Given the description of an element on the screen output the (x, y) to click on. 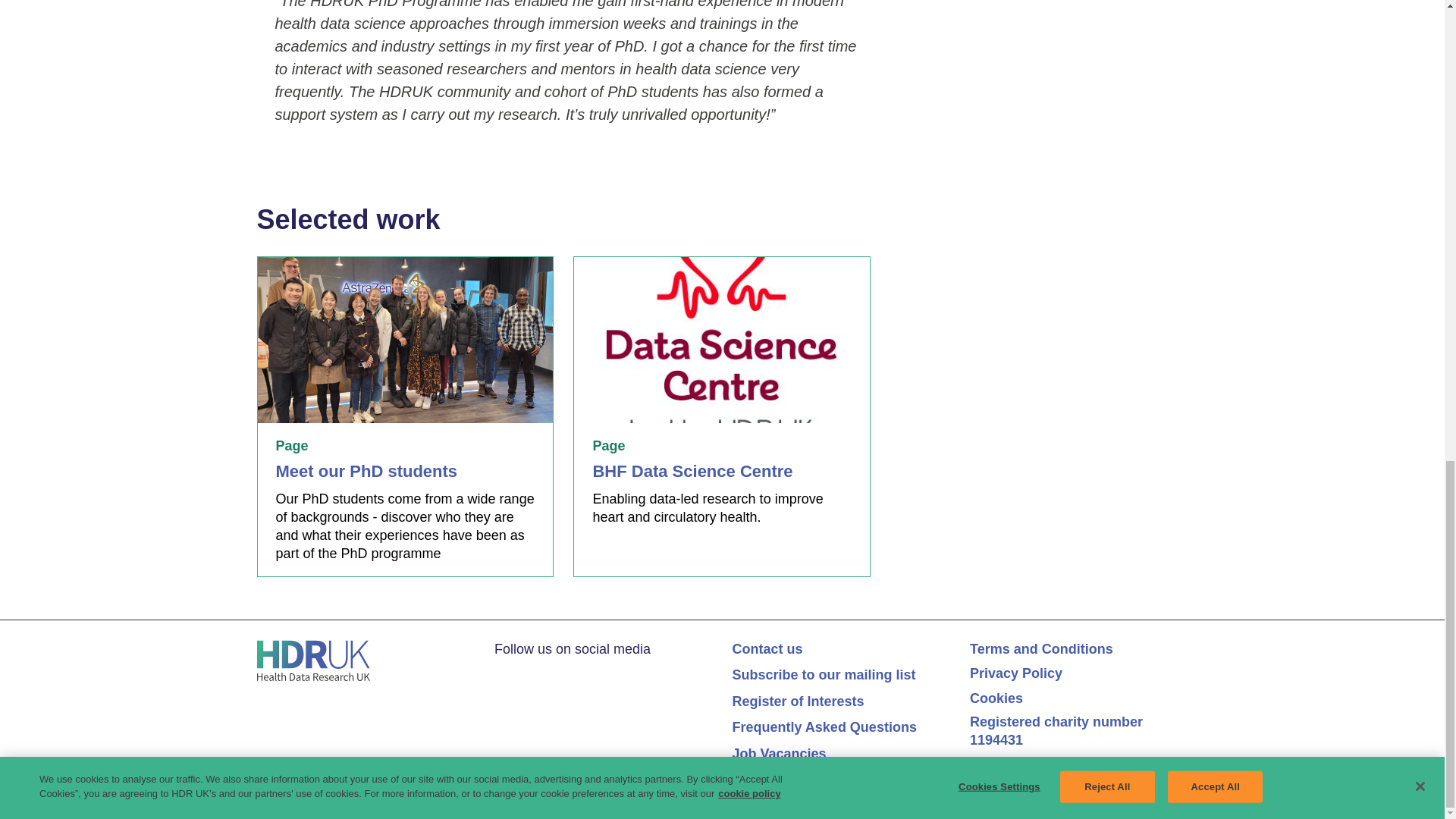
YouTube (561, 673)
LinkedIn (531, 673)
Twitter (503, 673)
